Given the description of an element on the screen output the (x, y) to click on. 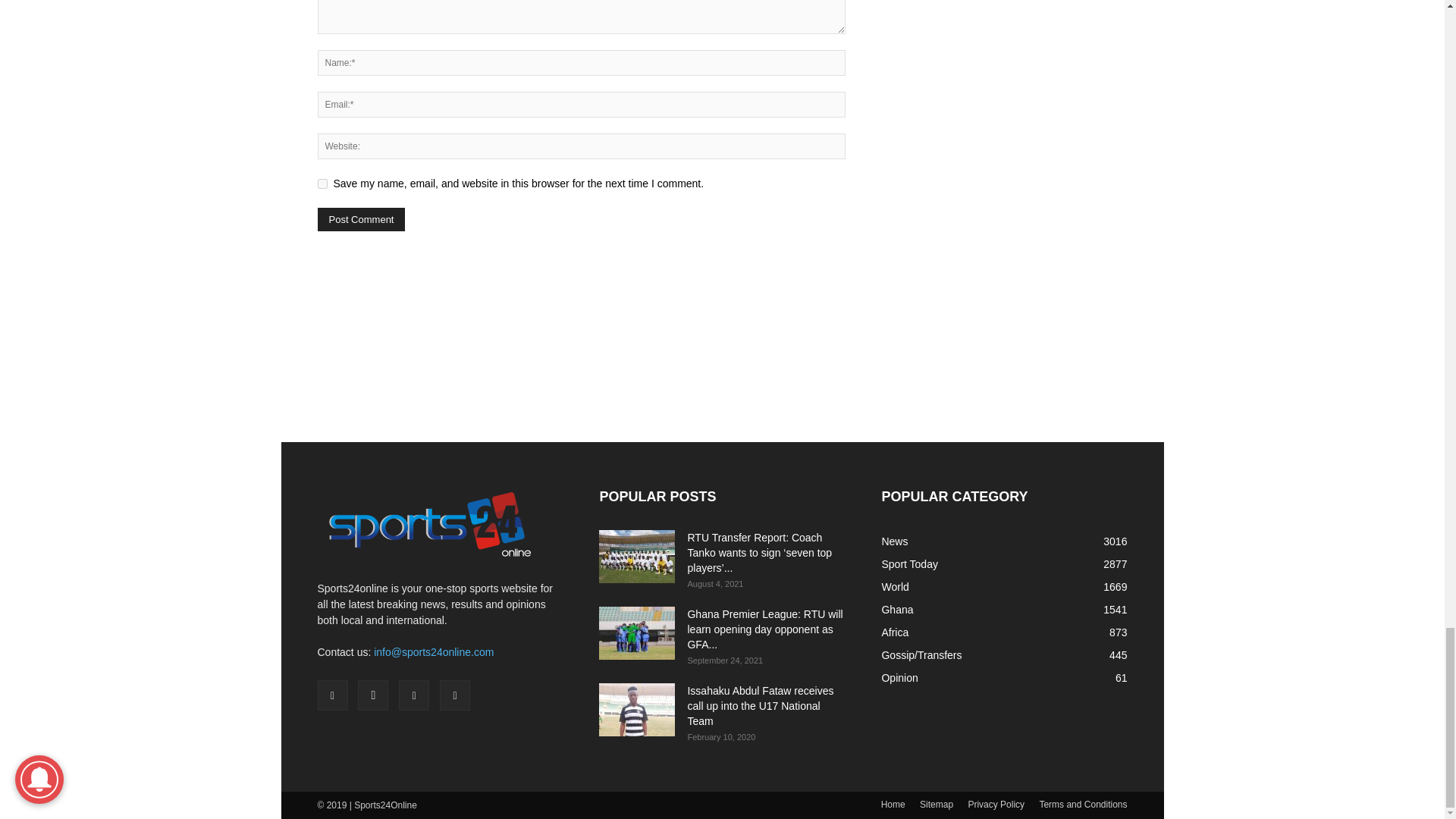
Post Comment (360, 219)
yes (321, 184)
